Given the description of an element on the screen output the (x, y) to click on. 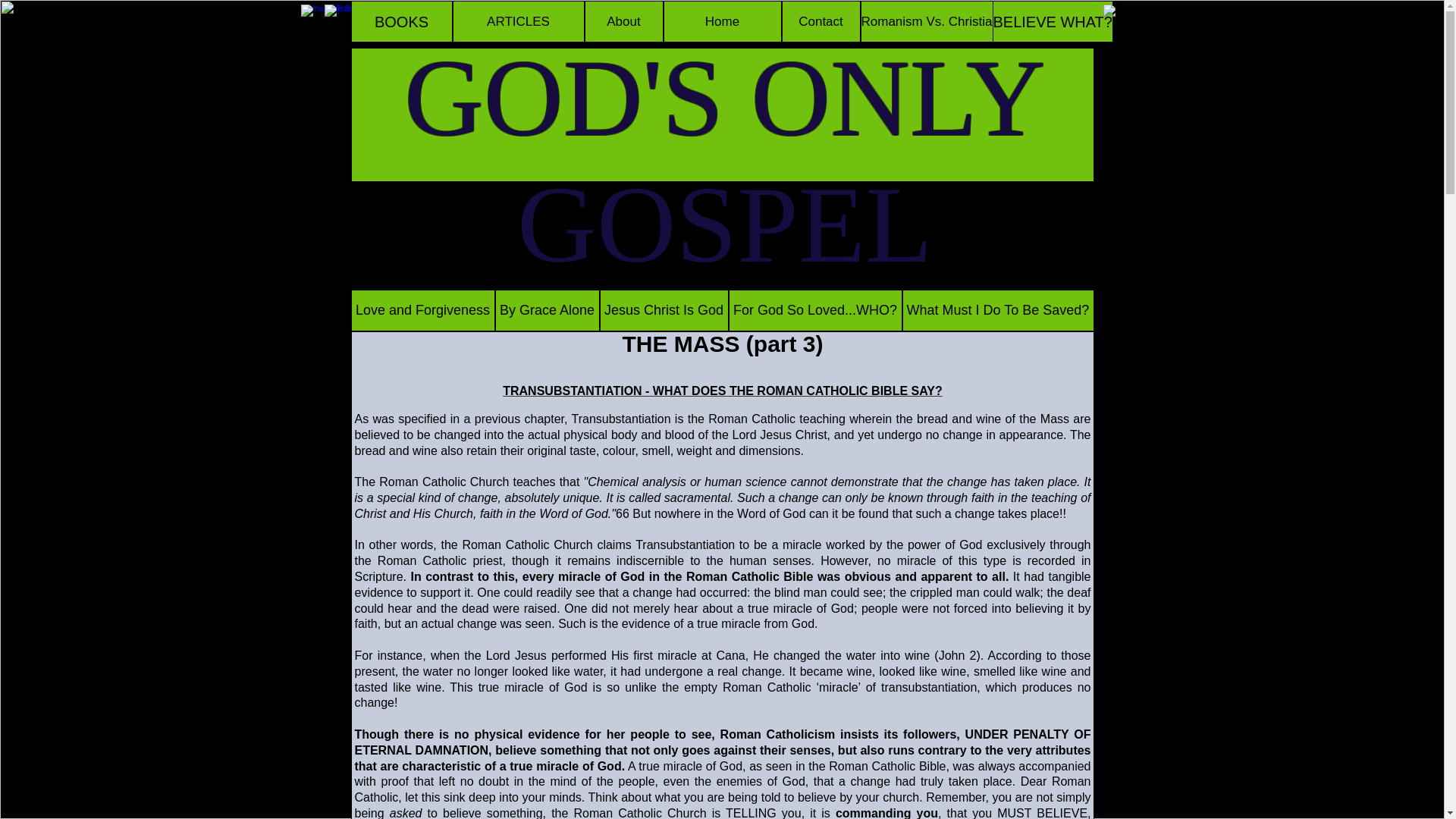
BELIEVE WHAT? (1051, 21)
BOOKS (400, 21)
Romanism Vs. Christianity (935, 21)
What Must I Do To Be Saved? (998, 310)
Contact (820, 21)
Love and Forgiveness (422, 310)
For God So Loved...WHO? (814, 310)
By Grace Alone (546, 310)
About (622, 21)
Home (721, 21)
